Given the description of an element on the screen output the (x, y) to click on. 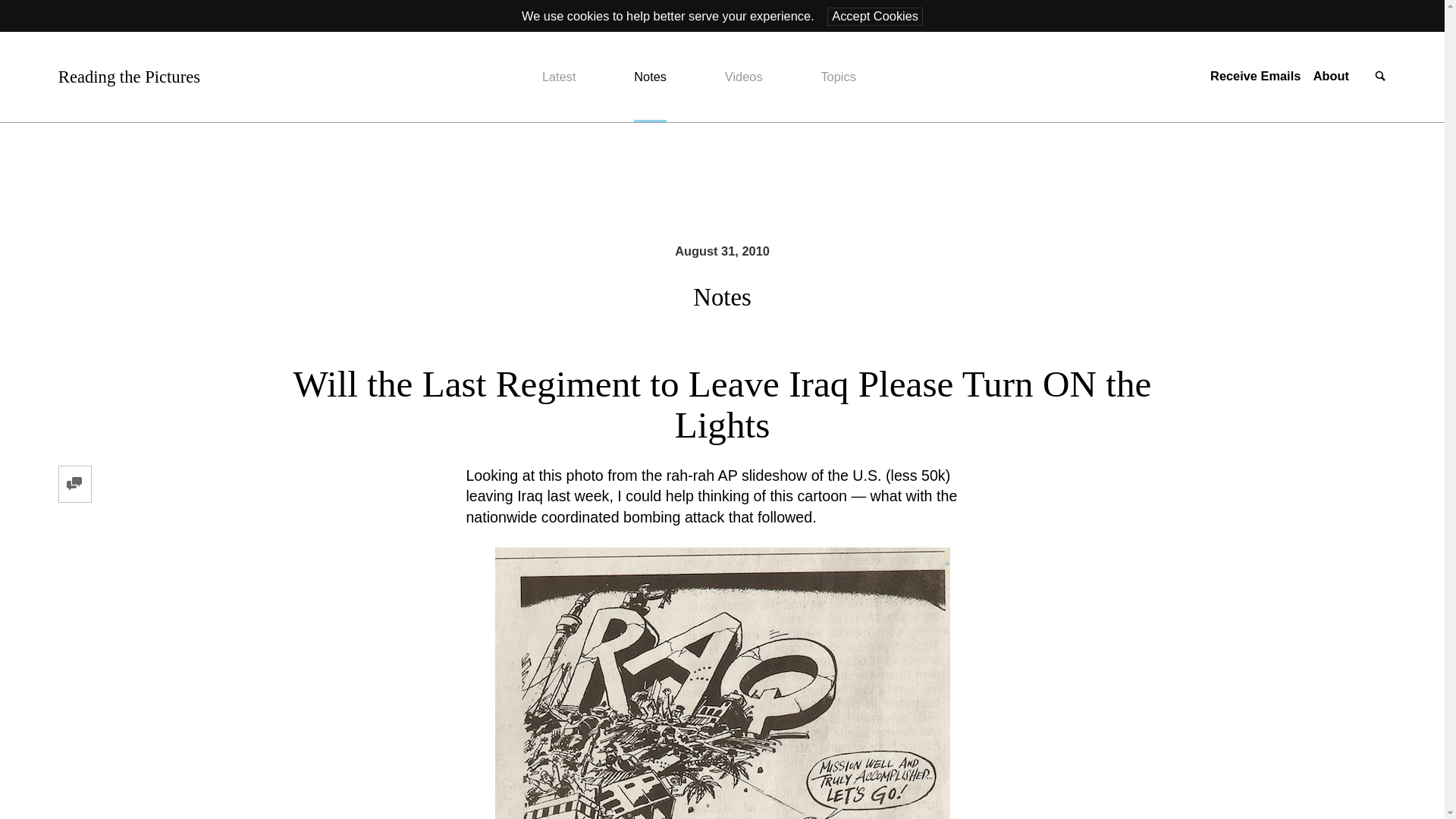
About (1331, 75)
Newsletter Signup (1254, 75)
search (1380, 78)
Receive Emails (1254, 75)
Accept Cookies (875, 16)
Reading the Pictures (129, 76)
About (1331, 75)
Reading the Pictures (129, 76)
Schrank (722, 683)
